Given the description of an element on the screen output the (x, y) to click on. 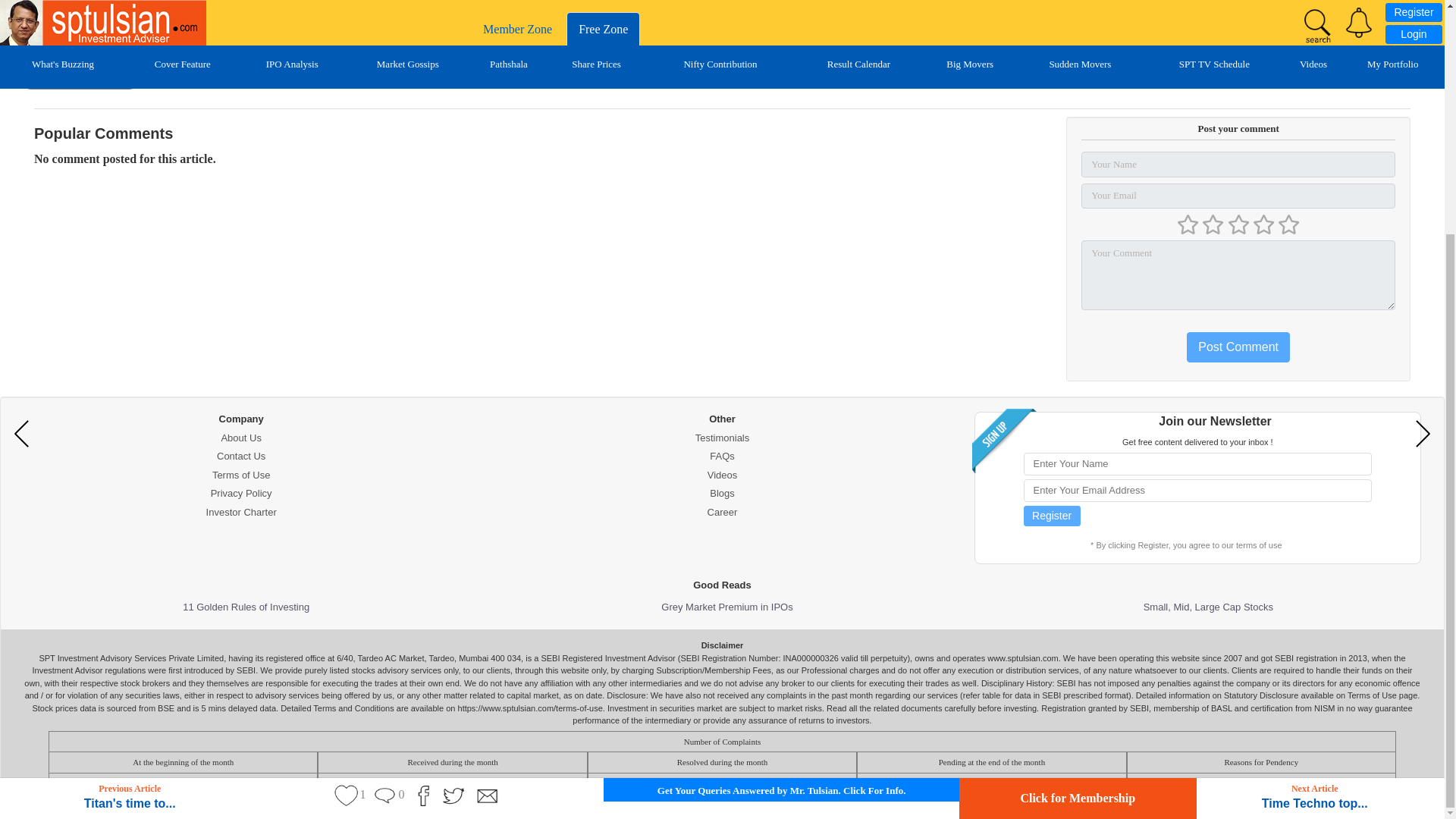
Not Rated (1237, 225)
Titan's time to come (24, 114)
Register (1051, 516)
